Given the description of an element on the screen output the (x, y) to click on. 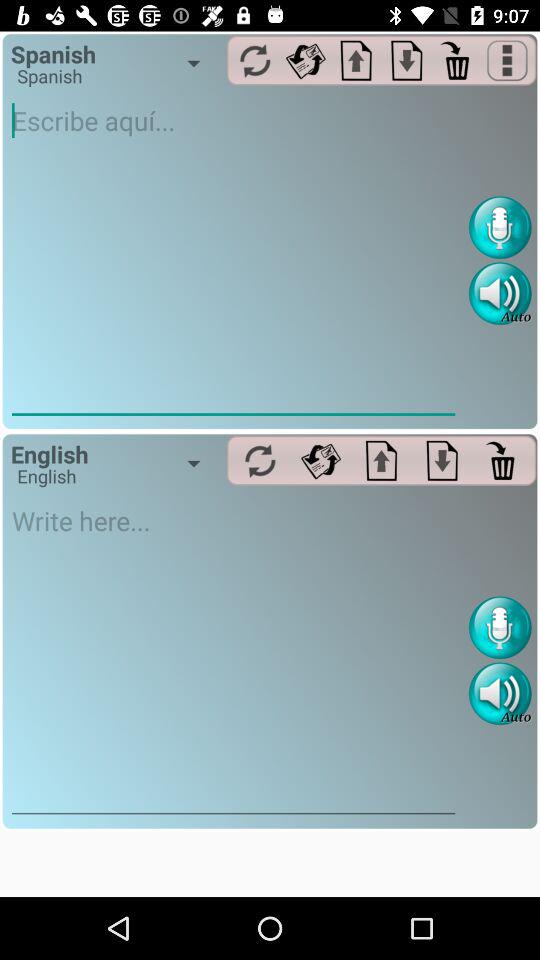
upload (381, 460)
